Given the description of an element on the screen output the (x, y) to click on. 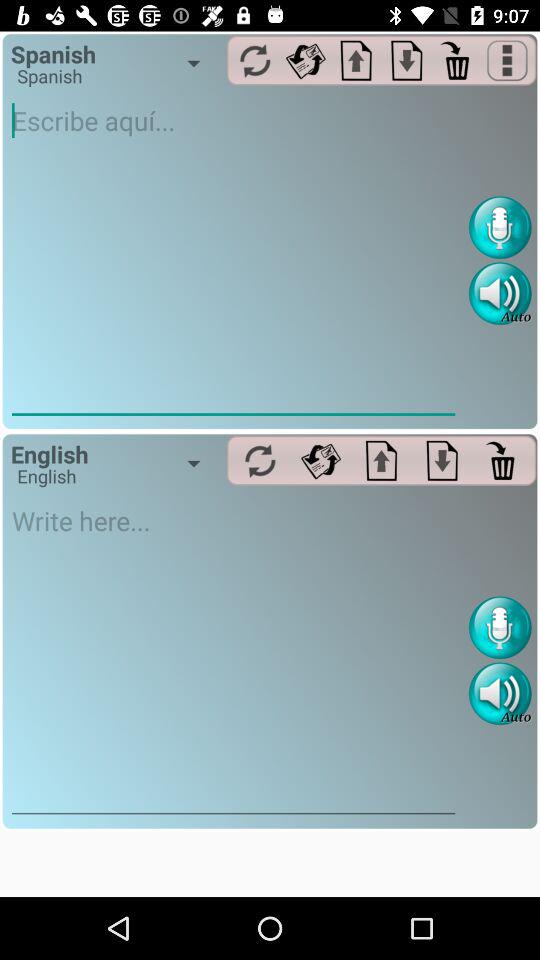
upload (381, 460)
